Given the description of an element on the screen output the (x, y) to click on. 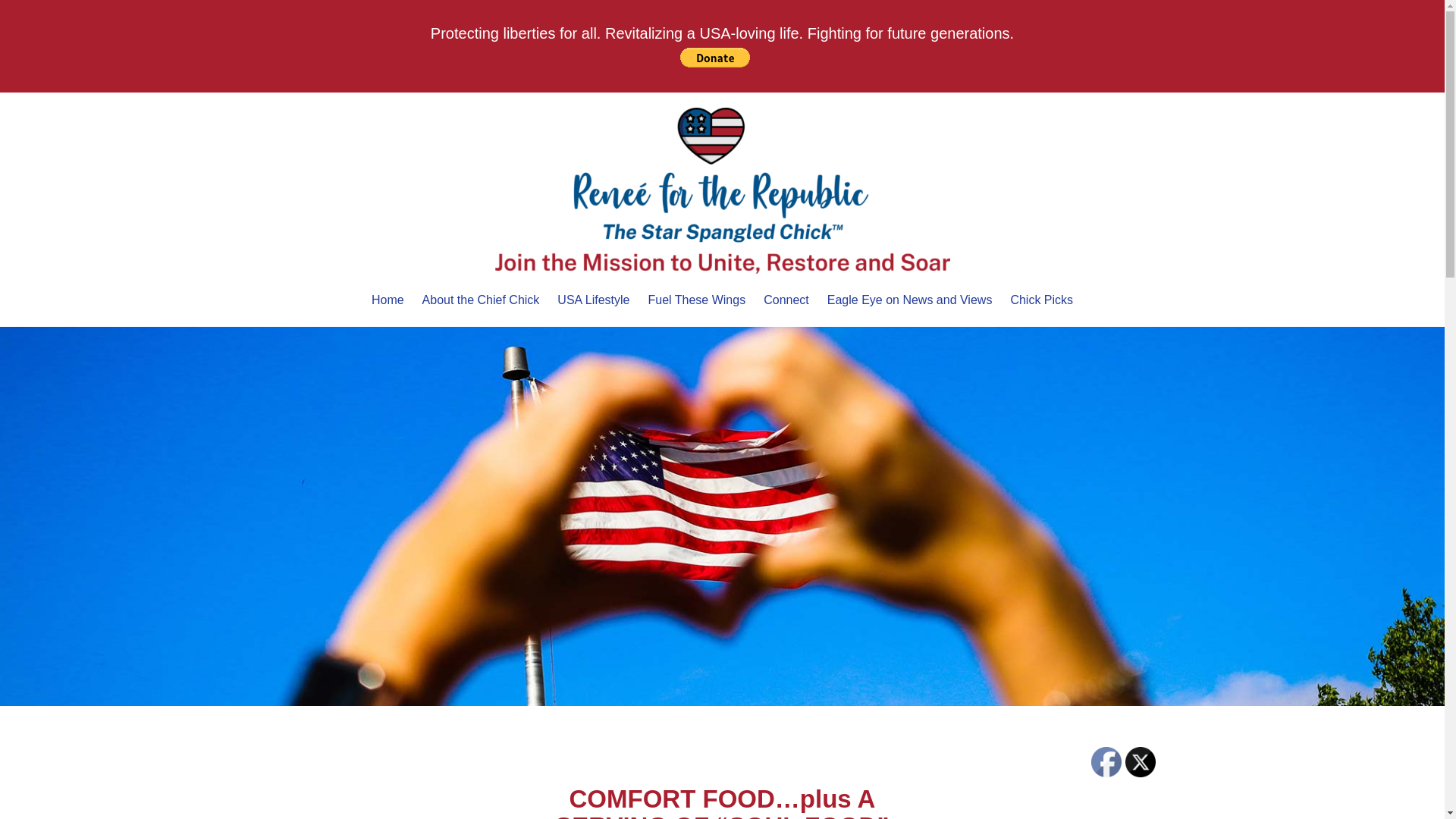
About the Chief Chick (480, 300)
Eagle Eye on News and Views (909, 300)
Chick Picks (1041, 300)
USA Lifestyle (593, 300)
Facebook (1105, 761)
Chick Picks (1041, 300)
Home (387, 300)
USA Lifestyle (593, 300)
Eagle Eye on News and Views (909, 300)
Star Spangled Chick (722, 190)
PayPal - The safer, easier way to pay online! (714, 57)
Connect (786, 300)
About the Chief Chick (480, 300)
Fuel These Wings (697, 300)
